Given the description of an element on the screen output the (x, y) to click on. 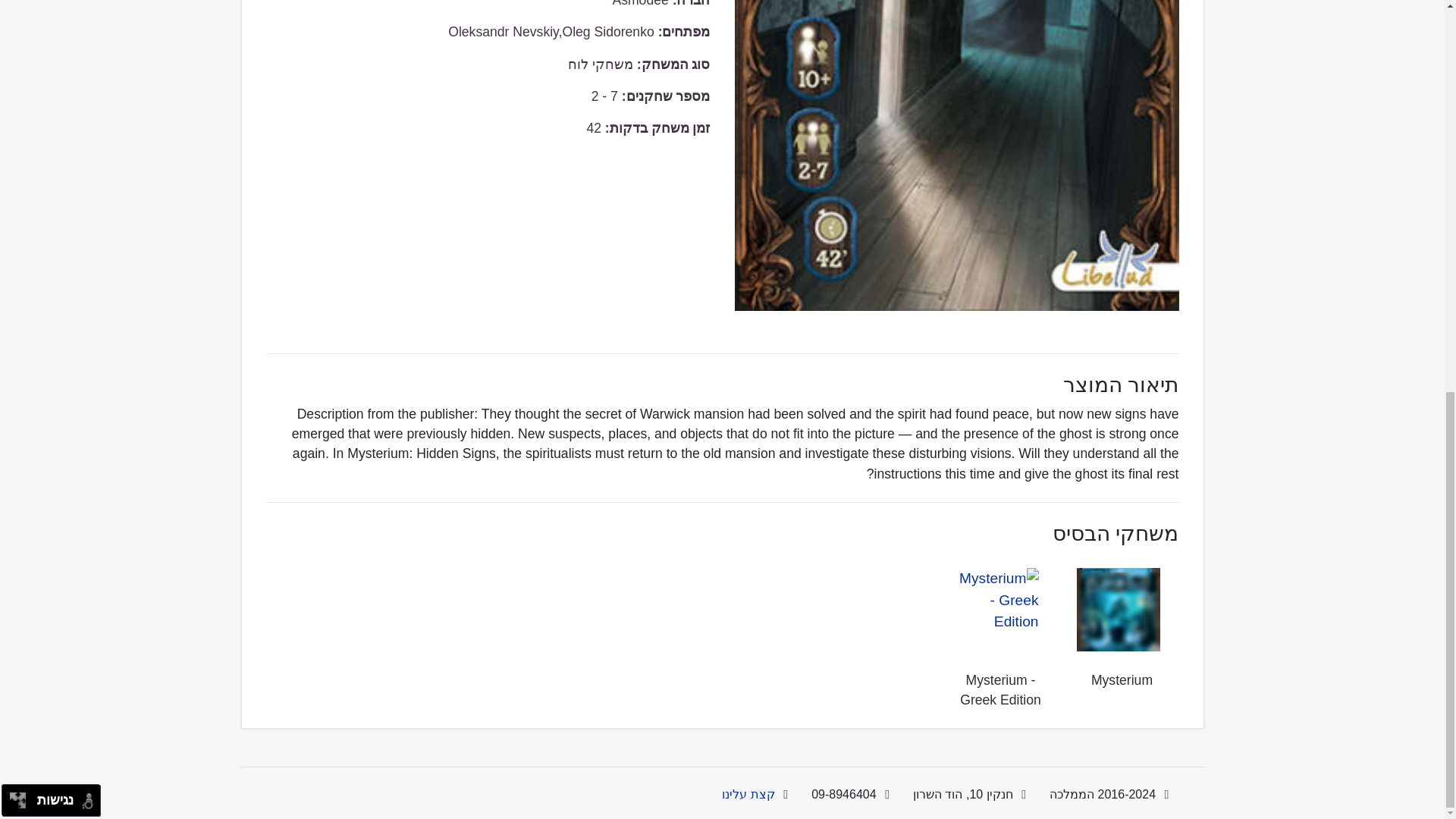
Mysterium (1121, 679)
Mysterium - Greek Edition (1000, 689)
